Given the description of an element on the screen output the (x, y) to click on. 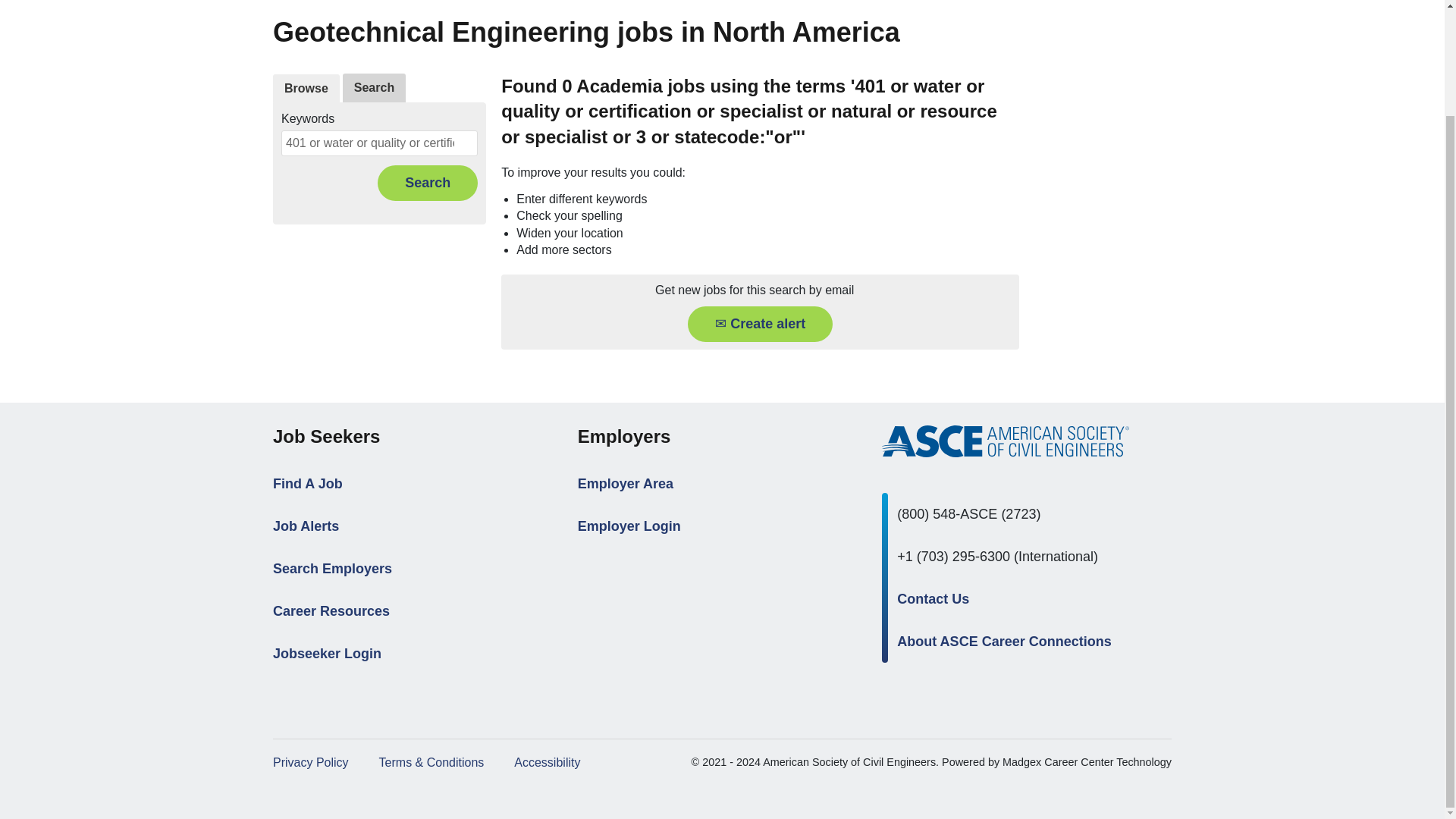
Search Employers (332, 568)
Jobseeker Login (327, 653)
ASCE Career Connections (1005, 441)
Browse (306, 88)
Job Alerts (306, 525)
About ASCE Career Connections (1003, 641)
Search (427, 182)
Career Resources (331, 611)
Create alert (759, 324)
Accessibility (546, 762)
Employer Area (625, 483)
Privacy Policy (311, 762)
Employer Login (629, 525)
Search (374, 87)
